Given the description of an element on the screen output the (x, y) to click on. 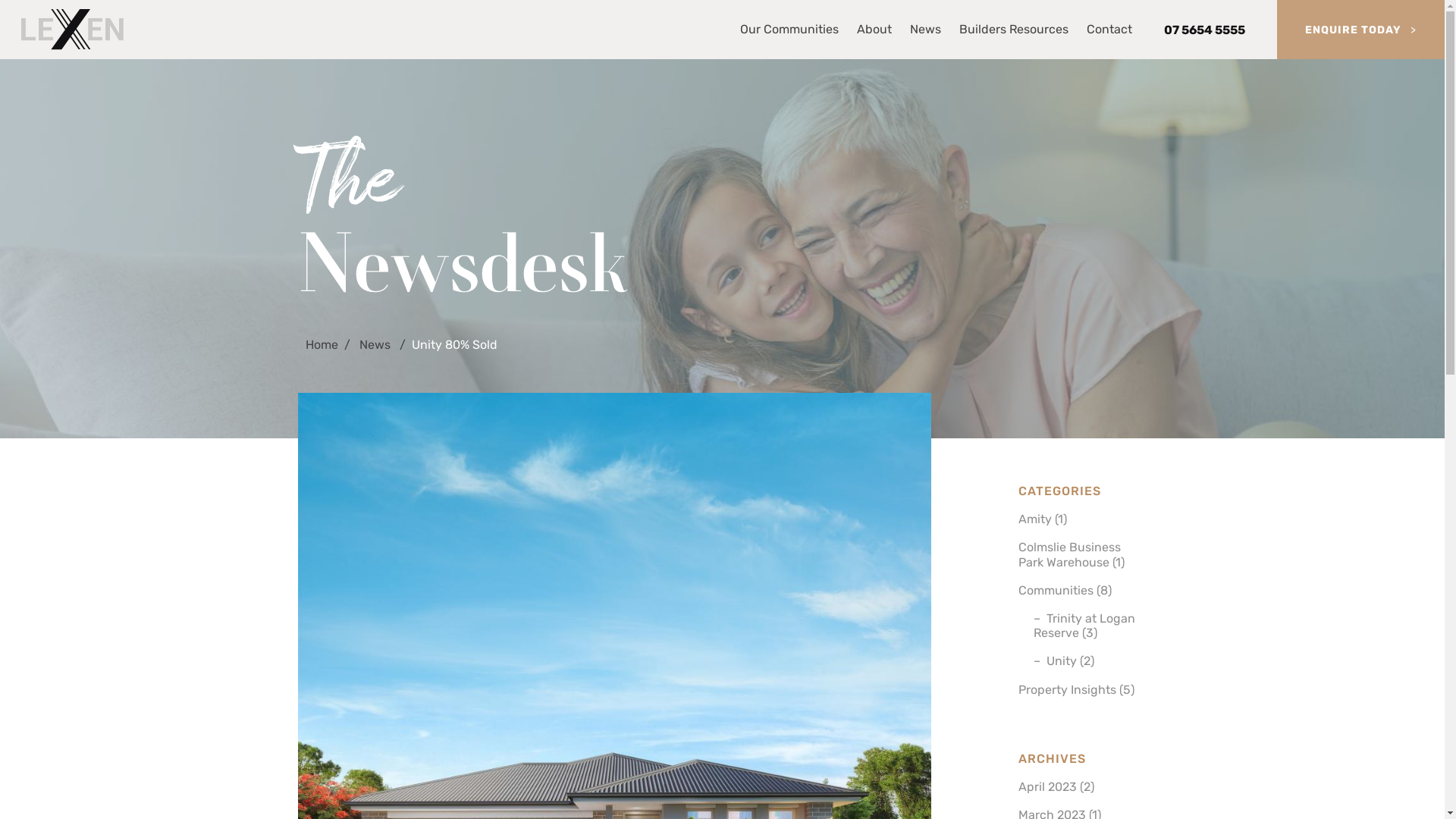
Colmslie Business Park Warehouse Element type: text (1068, 553)
Communities Element type: text (1054, 590)
Trinity at Logan Reserve Element type: text (1083, 625)
Home Element type: text (320, 344)
Lexen Group Element type: hover (72, 28)
About Element type: text (873, 28)
News Element type: text (376, 344)
April 2023 Element type: text (1046, 786)
Our Communities Element type: text (789, 28)
Amity Element type: text (1034, 518)
Contact Element type: text (1109, 28)
Skip to primary navigation Element type: text (12, 29)
Unity Element type: text (1061, 660)
ENQUIRE TODAY Element type: text (1360, 29)
Property Insights Element type: text (1066, 689)
News Element type: text (925, 28)
07 5654 5555 Element type: text (1204, 29)
Builders Resources Element type: text (1013, 28)
